Given the description of an element on the screen output the (x, y) to click on. 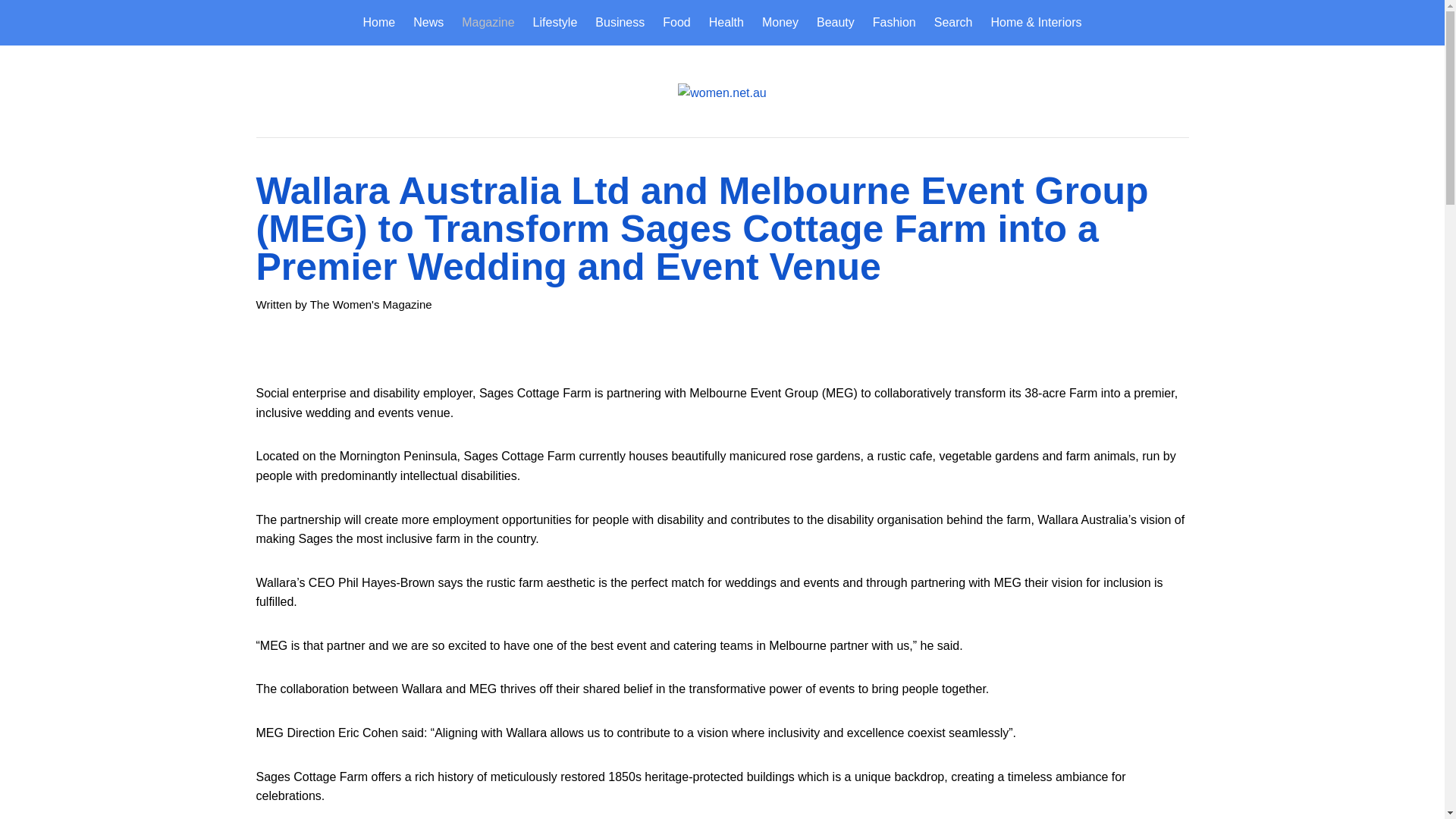
Magazine (487, 22)
Beauty (835, 22)
Money (780, 22)
News (428, 22)
Business (619, 22)
Fashion (893, 22)
Home (383, 22)
Lifestyle (555, 22)
Health (726, 22)
Food (675, 22)
